Given the description of an element on the screen output the (x, y) to click on. 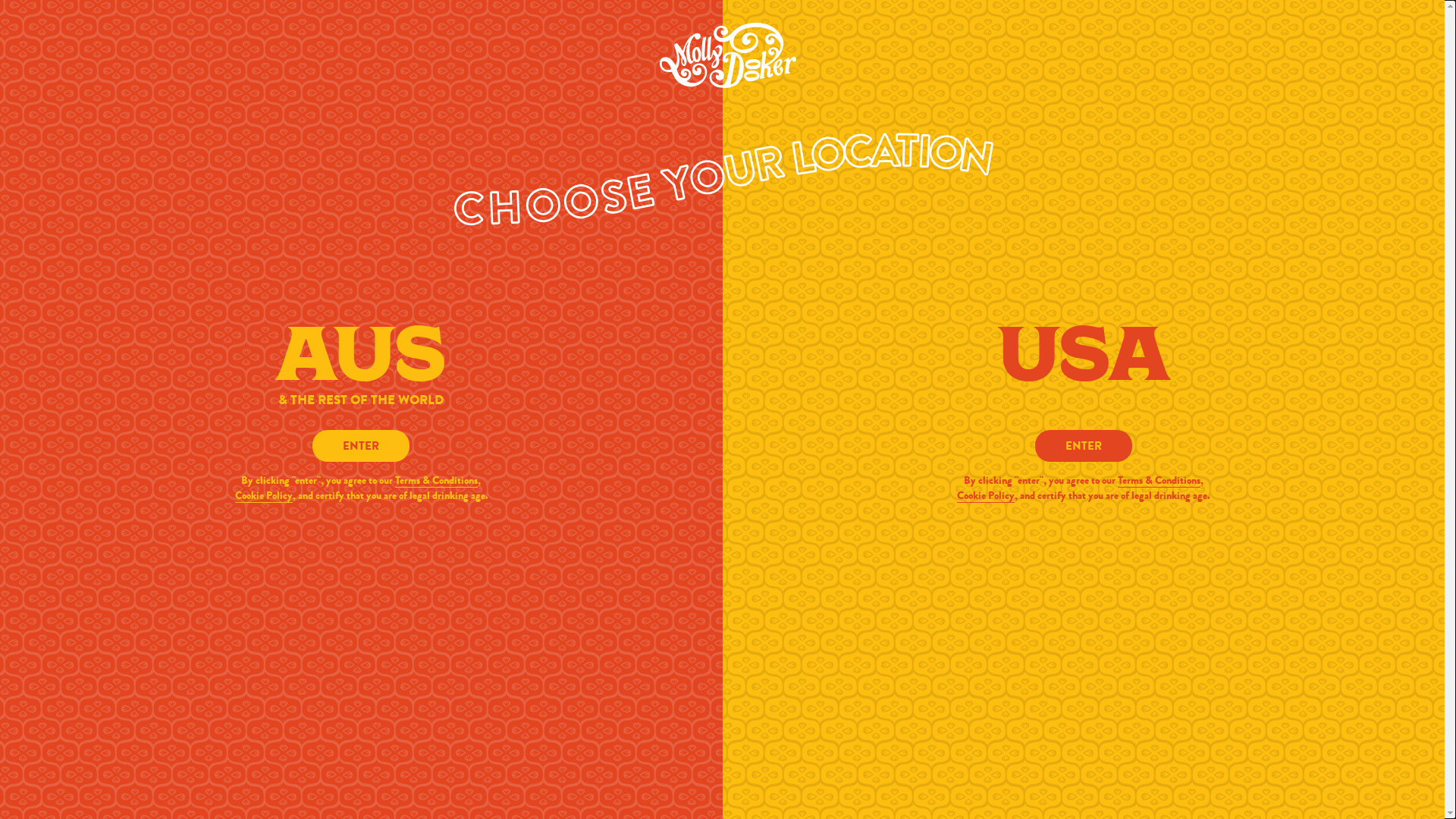
ENTER Element type: text (360, 445)
AUS Element type: text (1394, 41)
CELLAR DOOR Element type: text (635, 41)
Mollydooker Element type: hover (747, 42)
EVENTS Element type: text (944, 41)
Terms & Conditions Element type: text (436, 479)
Show details Element type: text (333, 743)
MENU Element type: text (41, 41)
SHOP WINES Element type: text (524, 41)
Privacy Policy Element type: text (398, 701)
I ACCEPT Element type: text (1058, 664)
ENTER Element type: text (1083, 445)
I DECLINE Element type: text (1058, 702)
Cookie Policy Element type: text (263, 494)
Terms & Conditions Element type: text (1158, 479)
MOLLYCLUB Element type: text (852, 41)
BACK TO NEWS Element type: text (423, 761)
Cookie Policy Element type: text (985, 494)
USA Element type: text (1426, 41)
